Given the description of an element on the screen output the (x, y) to click on. 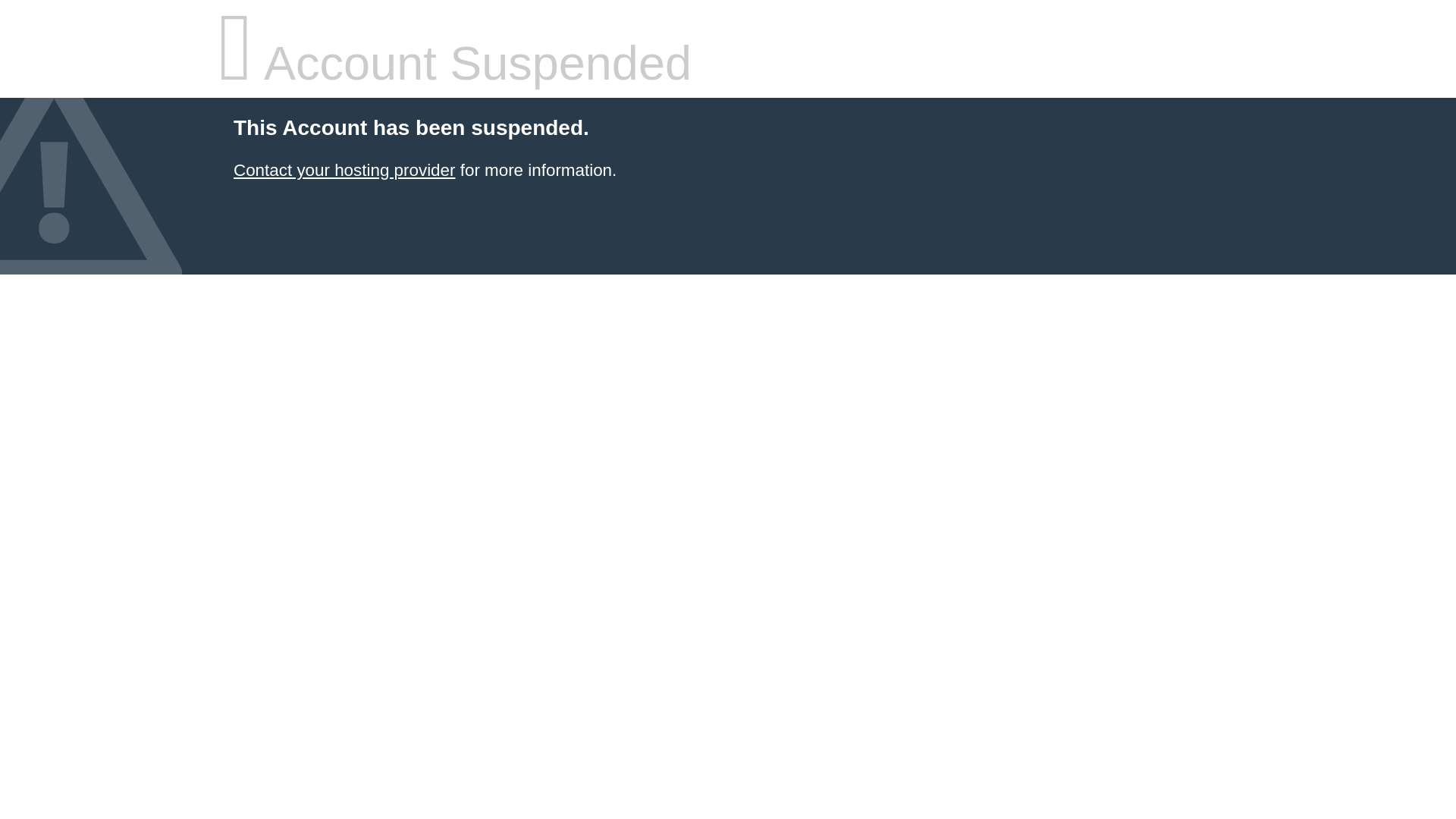
Contact your hosting provider (343, 169)
